Given the description of an element on the screen output the (x, y) to click on. 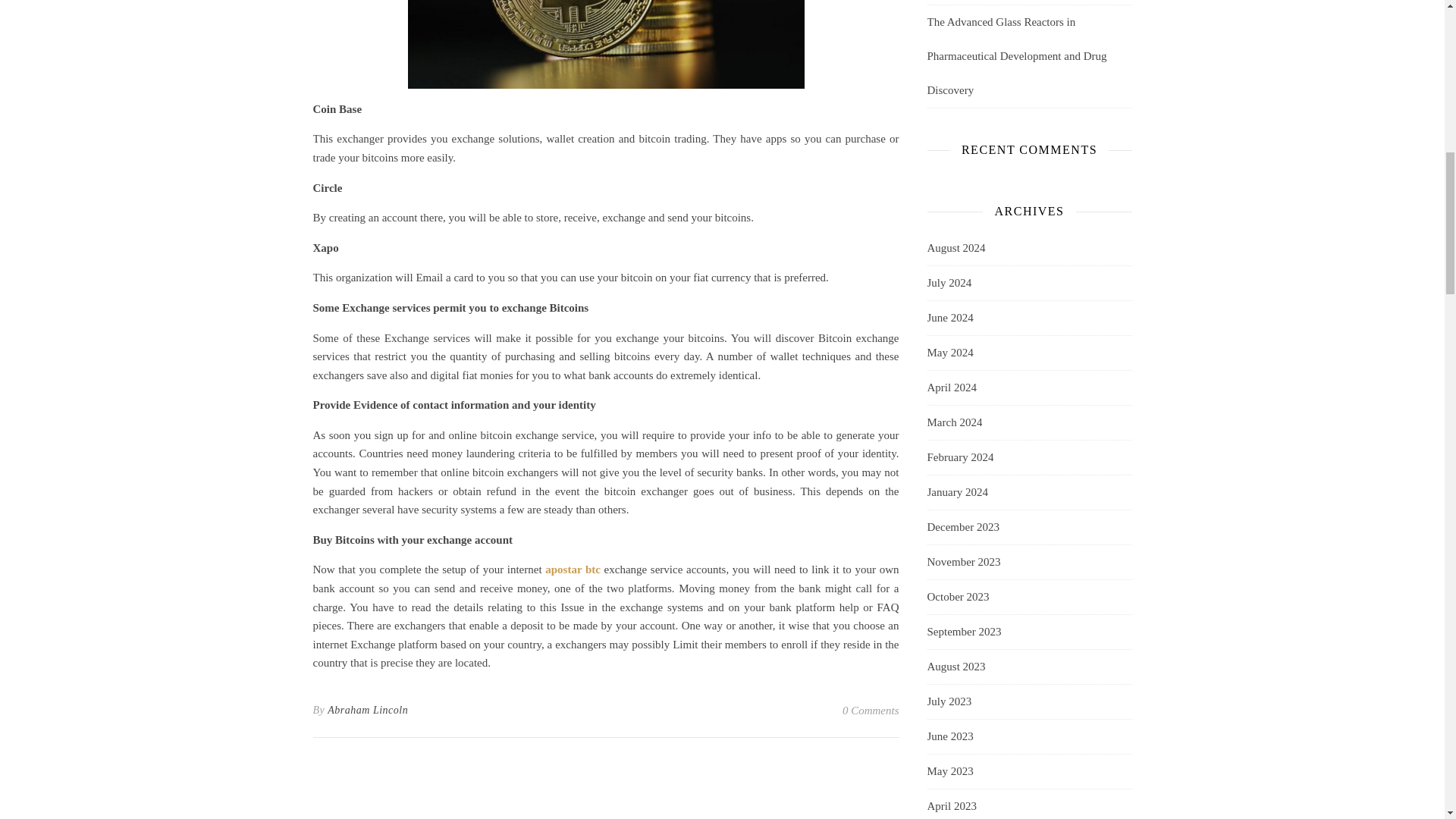
April 2024 (950, 387)
January 2024 (956, 492)
November 2023 (963, 562)
March 2024 (953, 422)
December 2023 (962, 527)
July 2024 (948, 283)
0 Comments (871, 710)
Posts by Abraham Lincoln (367, 710)
October 2023 (957, 596)
